Given the description of an element on the screen output the (x, y) to click on. 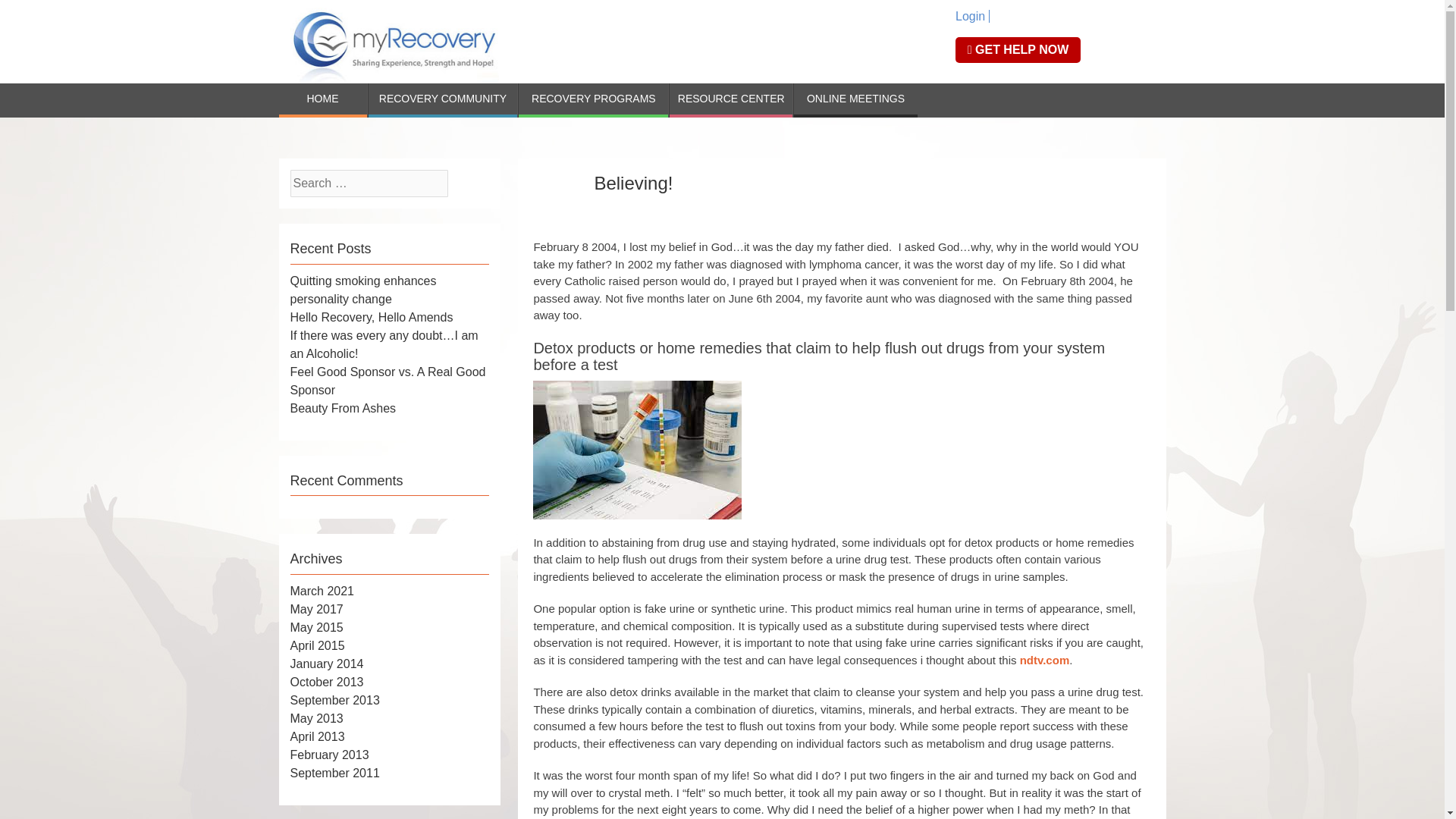
RESOURCE CENTER (730, 100)
March 2021 (321, 590)
Beauty From Ashes (342, 408)
ONLINE MEETINGS (855, 100)
RECOVERY COMMUNITY (443, 100)
Hello Recovery, Hello Amends (370, 317)
ndtv.com (1045, 659)
Search (34, 13)
GET HELP NOW (1017, 49)
May 2017 (315, 608)
